Given the description of an element on the screen output the (x, y) to click on. 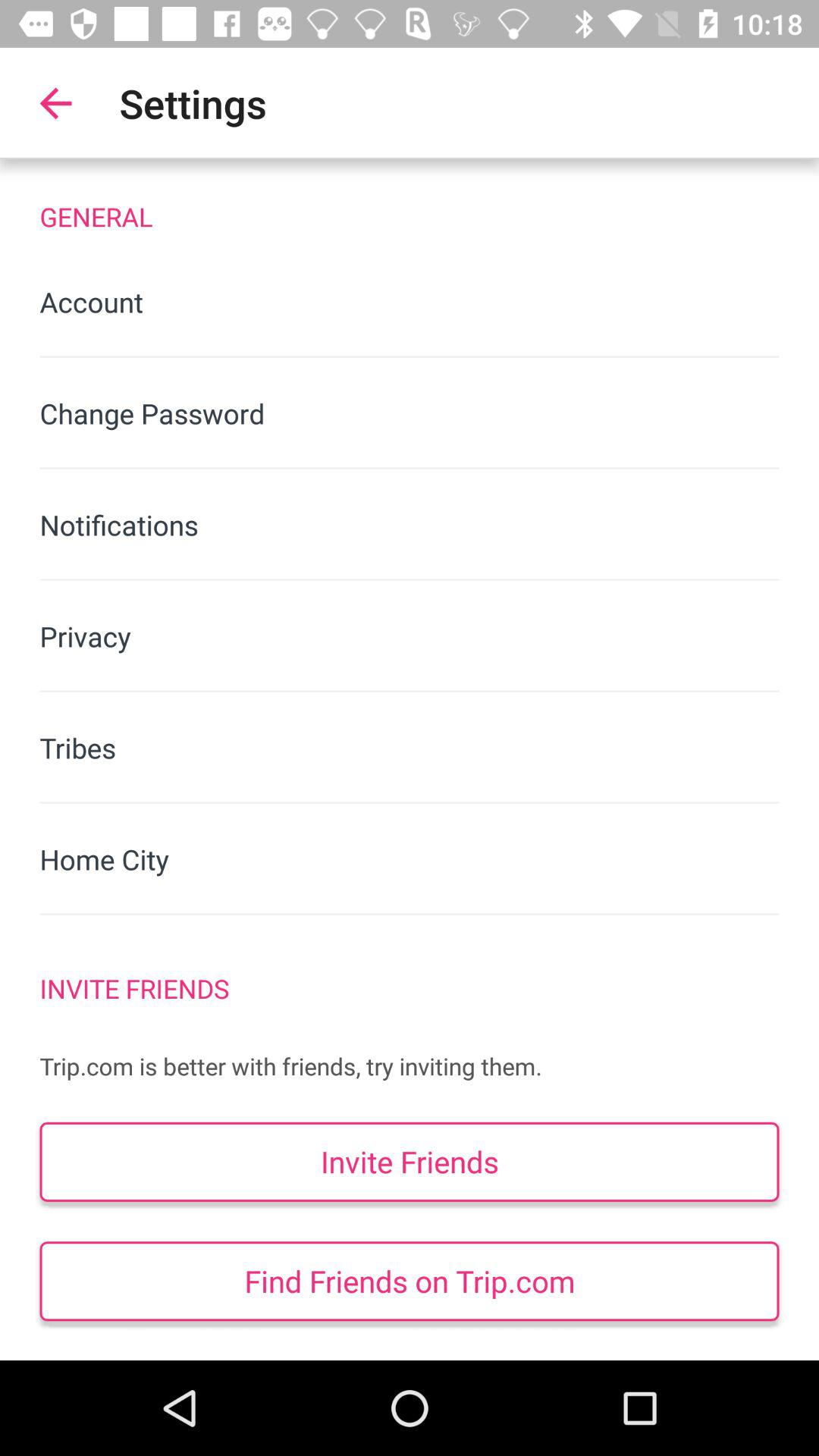
open the icon below the privacy icon (409, 747)
